Given the description of an element on the screen output the (x, y) to click on. 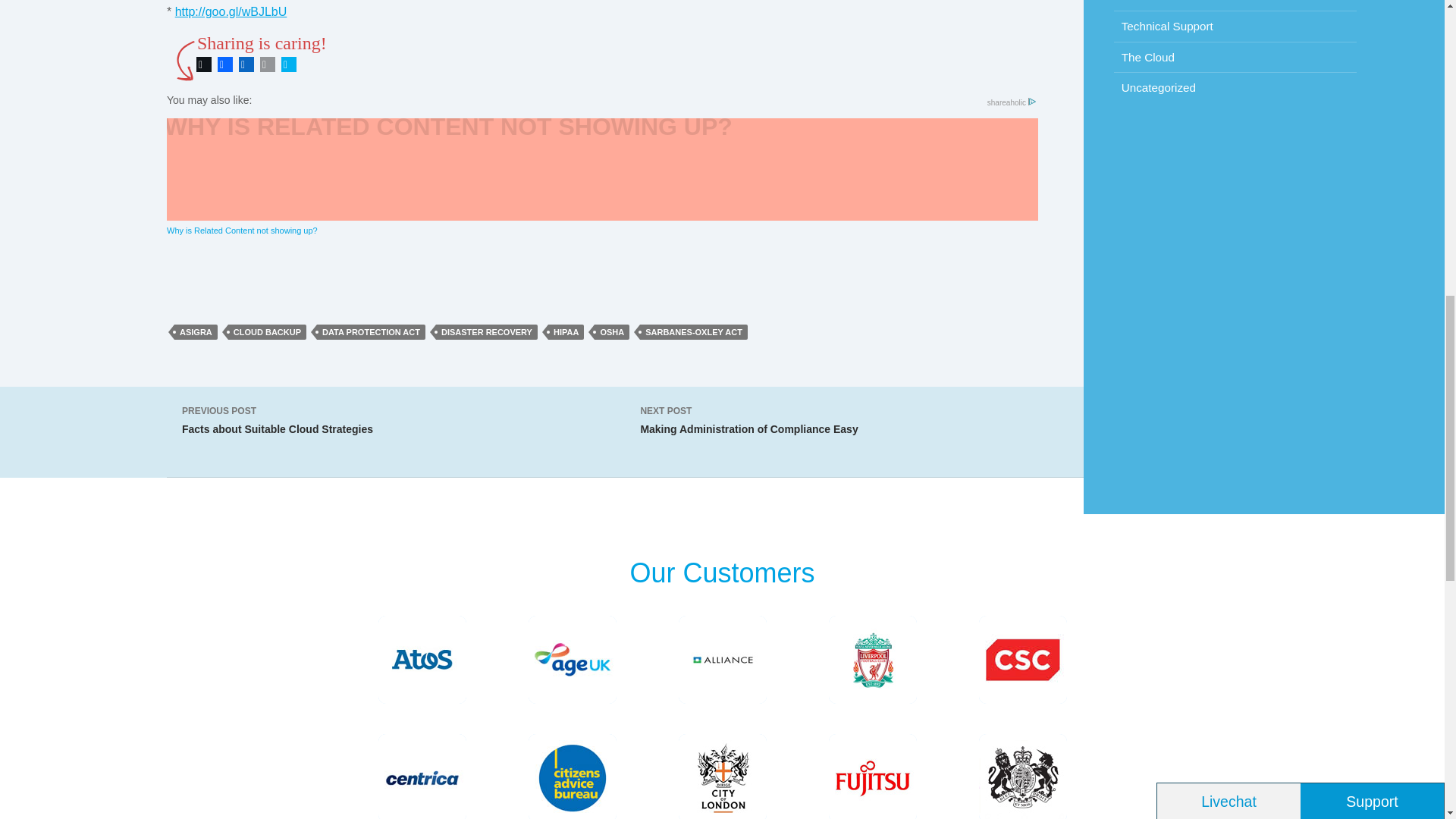
PrintFriendly (288, 64)
Facebook (224, 64)
Website Tools by Shareaholic (1011, 102)
Email This (267, 64)
LinkedIn (246, 64)
Why is Related Content not showing up? (602, 176)
